Given the description of an element on the screen output the (x, y) to click on. 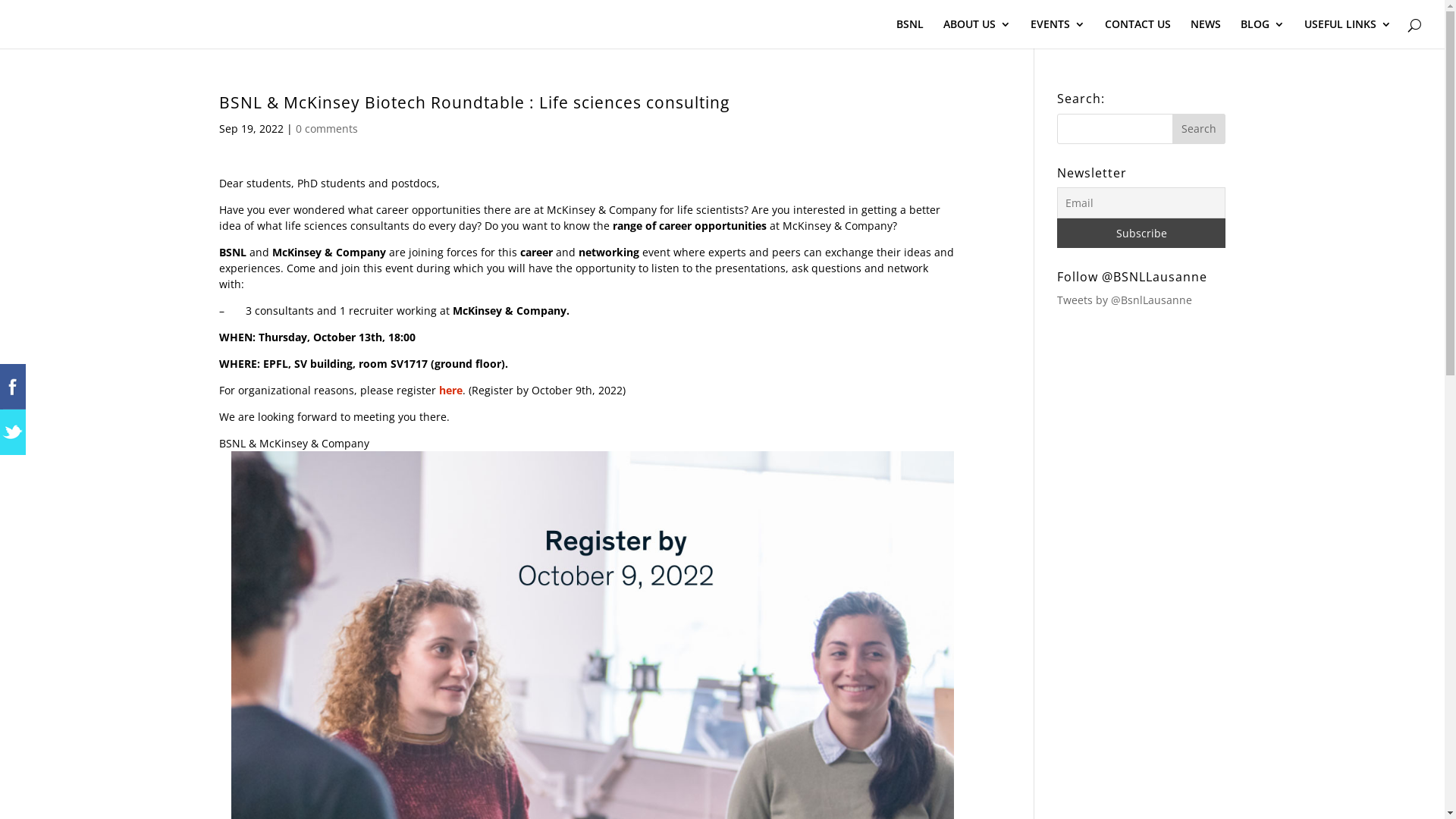
ABOUT US Element type: text (976, 33)
0 comments Element type: text (326, 128)
BLOG Element type: text (1262, 33)
NEWS Element type: text (1205, 33)
Tweets by @BsnlLausanne Element type: text (1124, 299)
Search Element type: text (1198, 128)
BSNL Element type: text (909, 33)
here Element type: text (449, 389)
EVENTS Element type: text (1057, 33)
Subscribe Element type: text (1141, 232)
CONTACT US Element type: text (1137, 33)
USEFUL LINKS Element type: text (1347, 33)
